Given the description of an element on the screen output the (x, y) to click on. 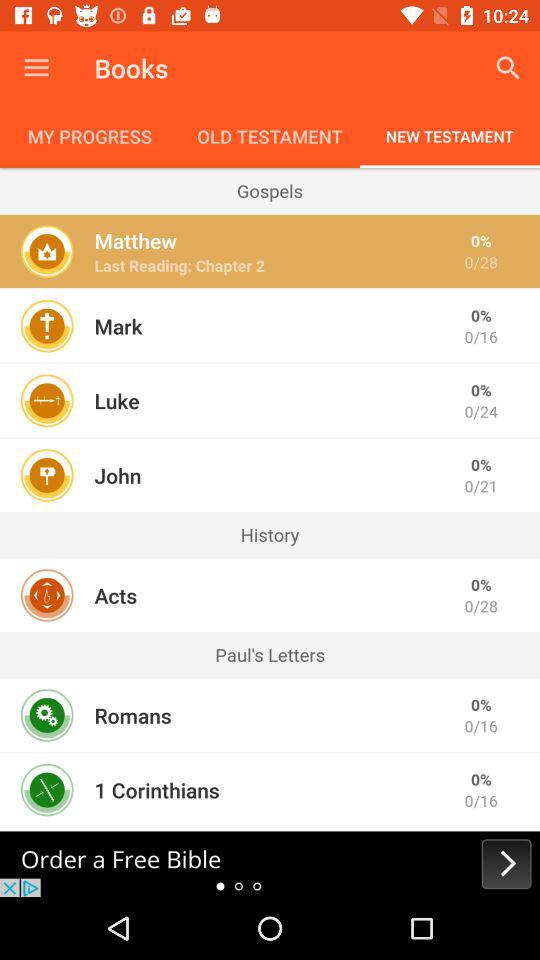
launch the icon below the my progress icon (270, 190)
